Given the description of an element on the screen output the (x, y) to click on. 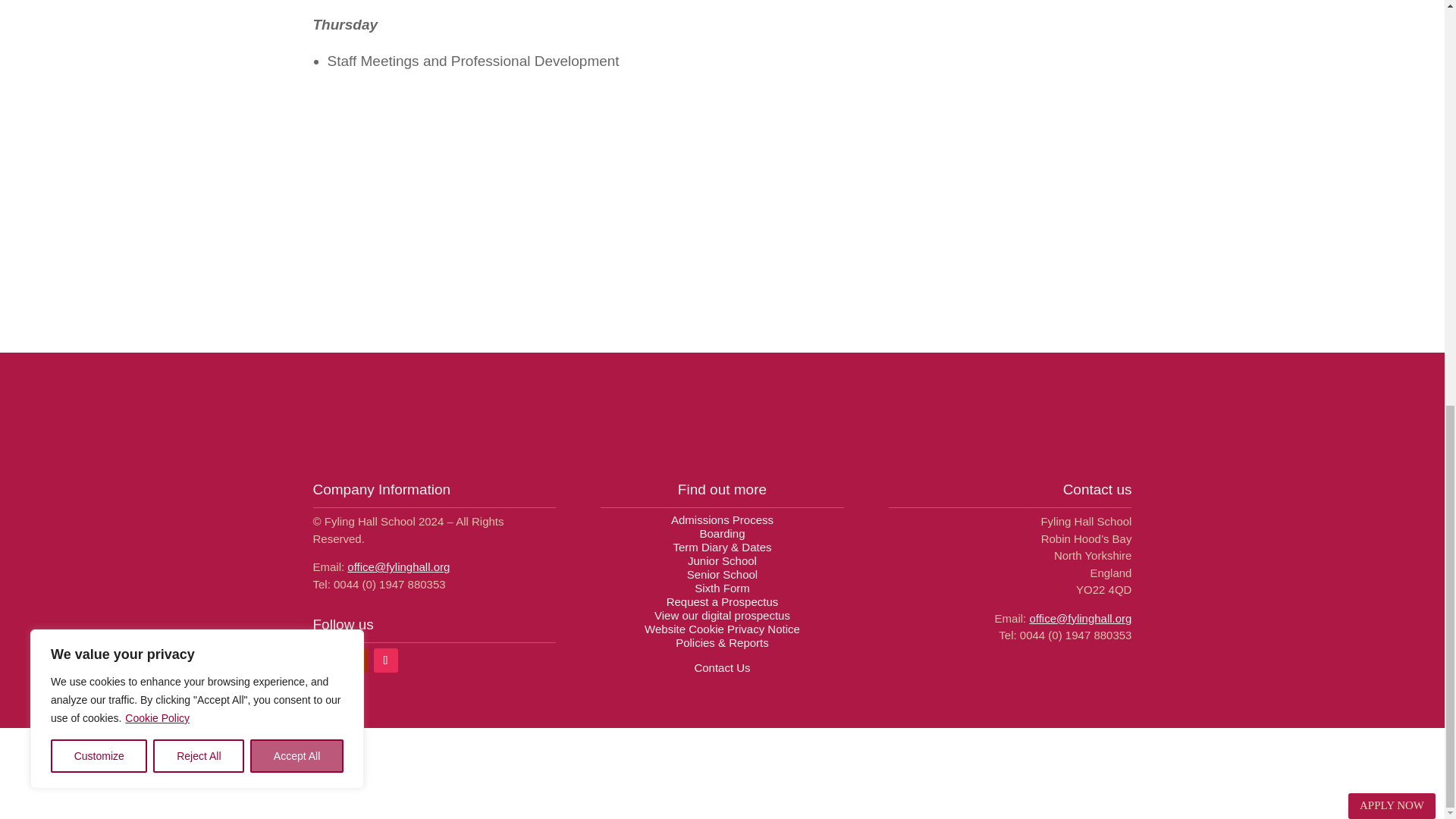
Follow on Facebook (324, 660)
Follow on Instagram (384, 660)
Follow on Youtube (354, 660)
